Given the description of an element on the screen output the (x, y) to click on. 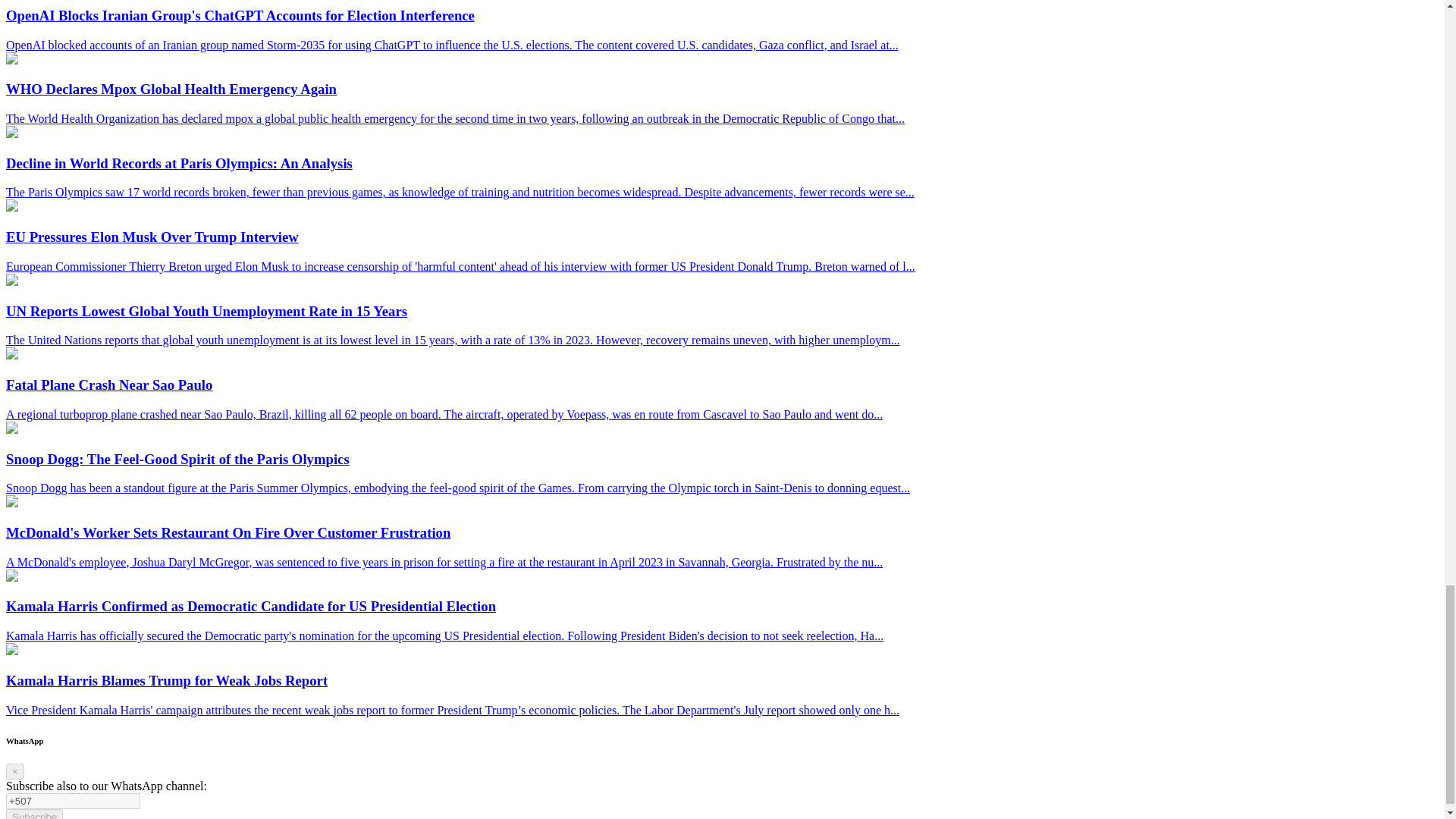
EU Pressures Elon Musk Over Trump Interview (11, 206)
WHO Declares Mpox Global Health Emergency Again (11, 60)
Decline in World Records at Paris Olympics: An Analysis (11, 133)
UN Reports Lowest Global Youth Unemployment Rate in 15 Years (11, 281)
Fatal Plane Crash Near Sao Paulo (11, 354)
Snoop Dogg: The Feel-Good Spirit of the Paris Olympics (11, 429)
